Given the description of an element on the screen output the (x, y) to click on. 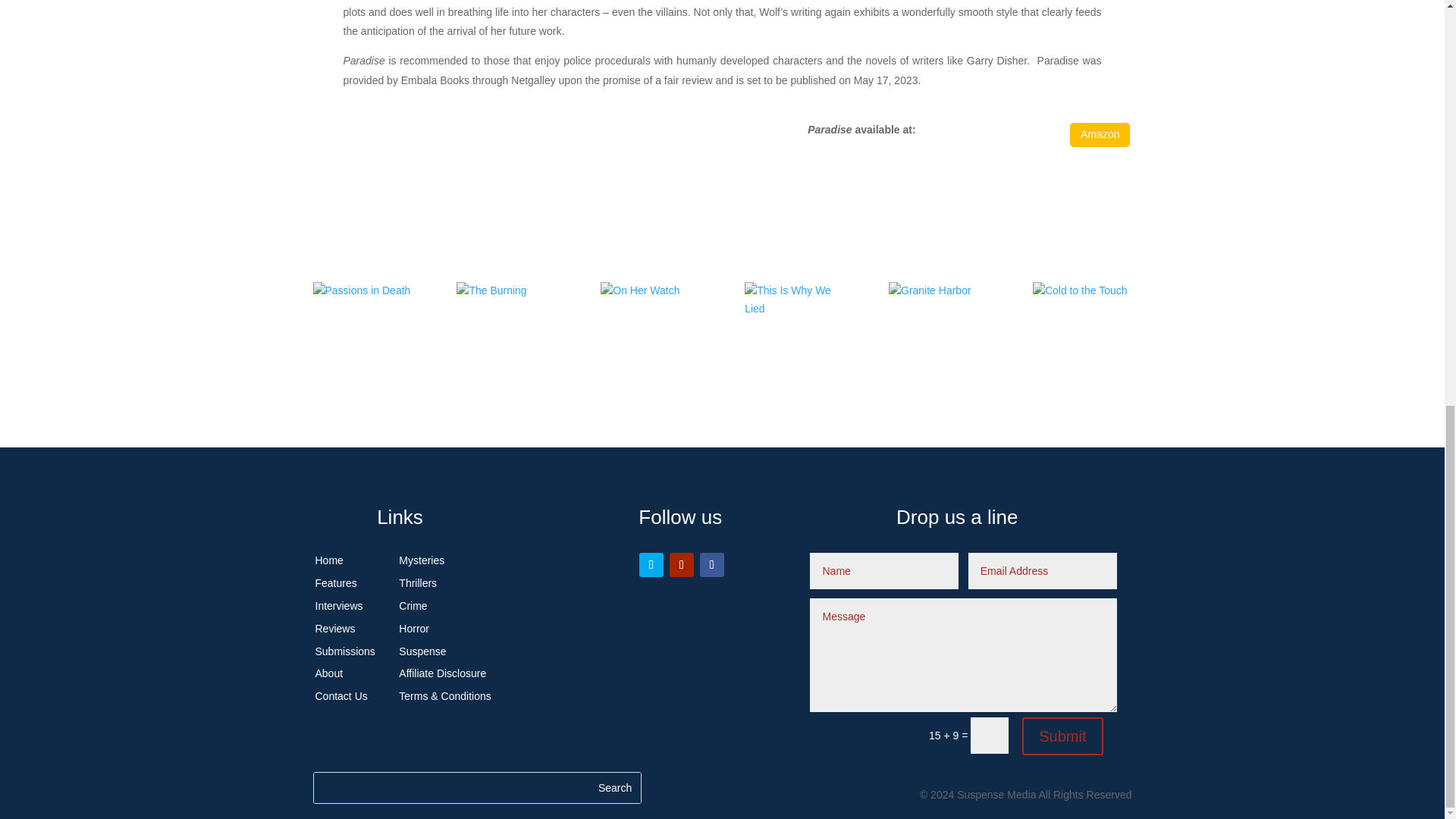
Follow on Twitter (651, 564)
Thrillers (417, 582)
Follow on Facebook (711, 564)
Search (614, 788)
Amazon (1099, 134)
Search (614, 788)
